Given the description of an element on the screen output the (x, y) to click on. 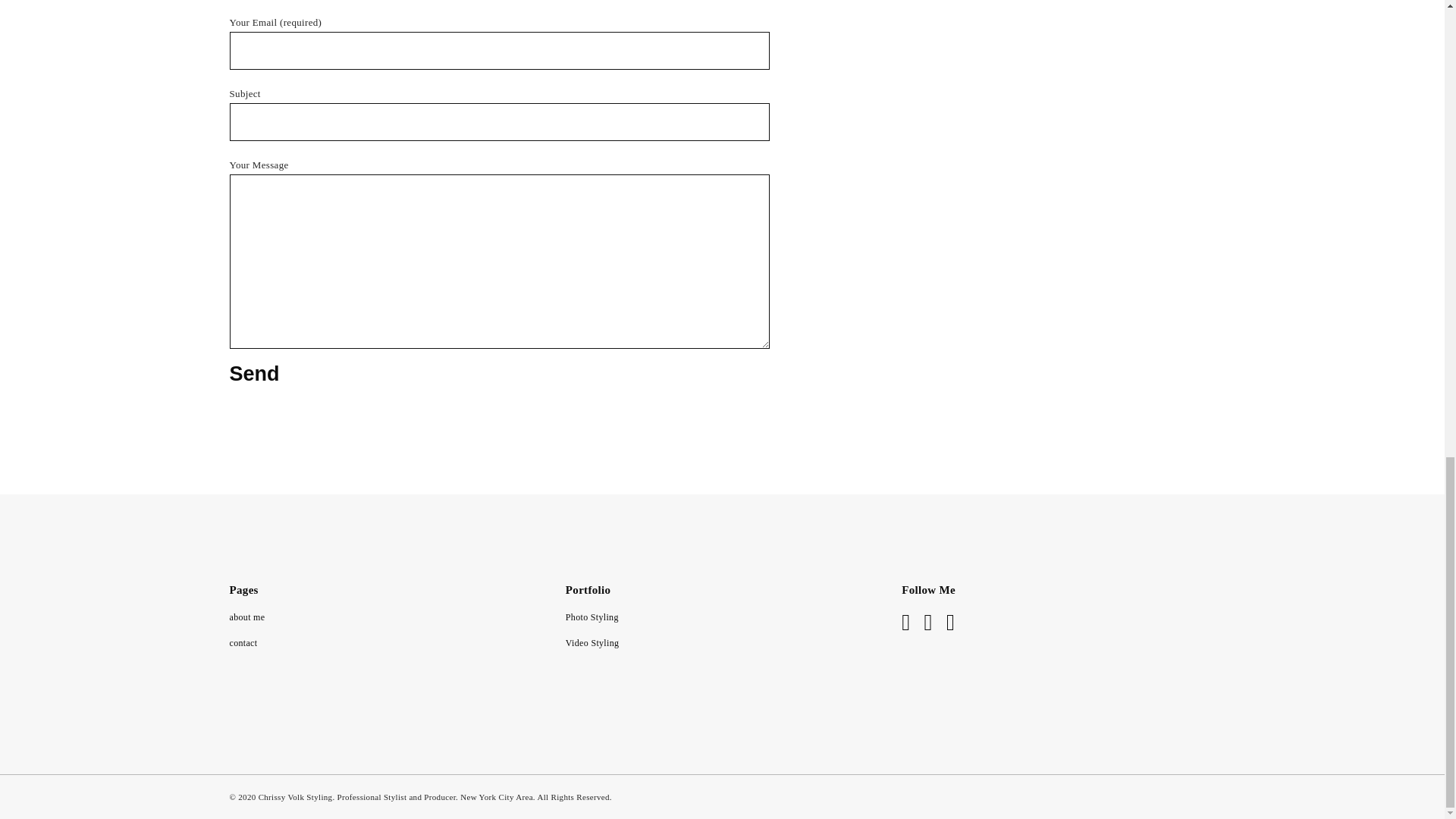
Send (253, 373)
Photo Styling (592, 616)
Video Styling (593, 643)
about me (246, 616)
Send (253, 373)
contact (242, 643)
